Given the description of an element on the screen output the (x, y) to click on. 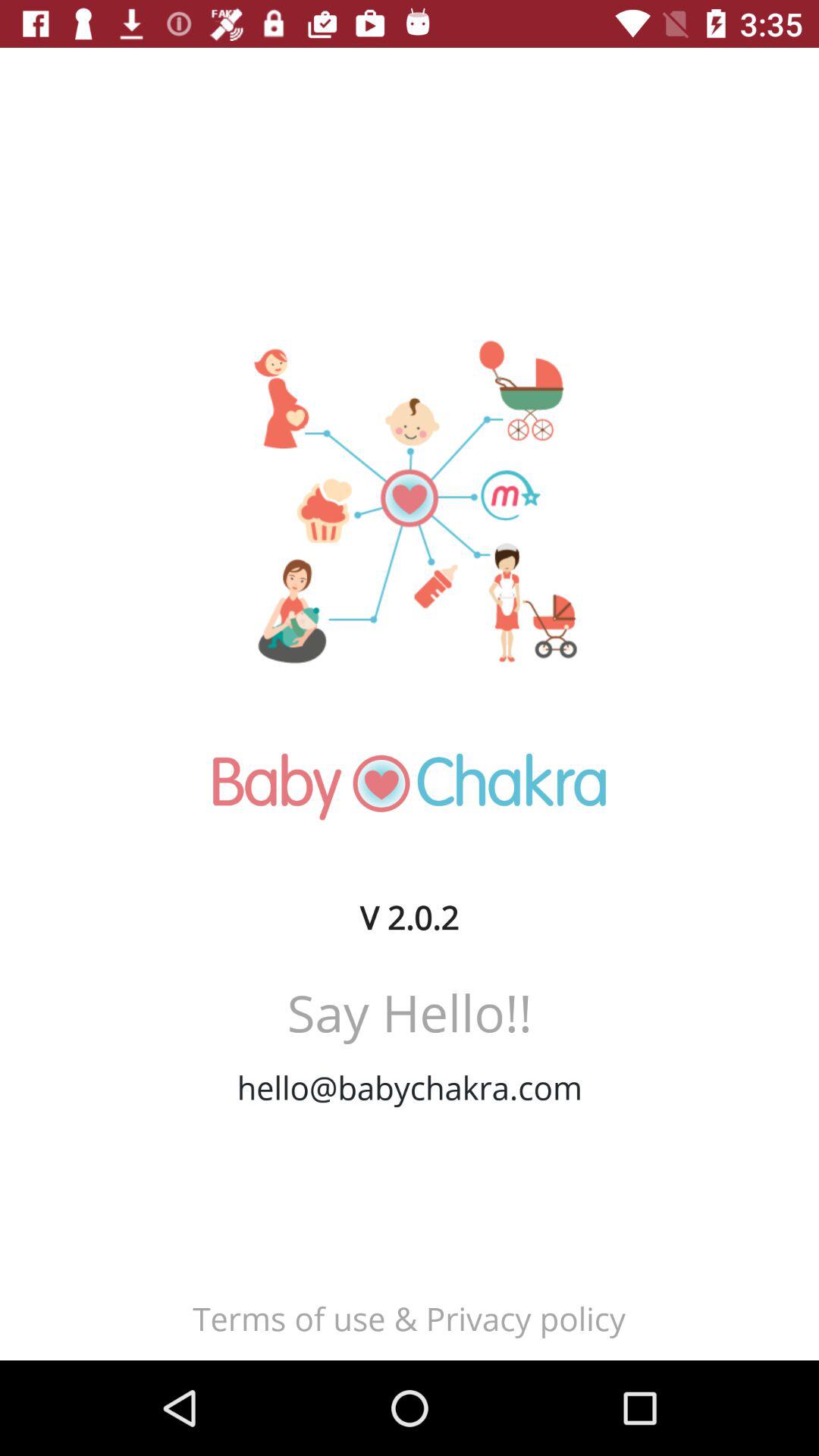
tap item above the terms of use (409, 1087)
